Given the description of an element on the screen output the (x, y) to click on. 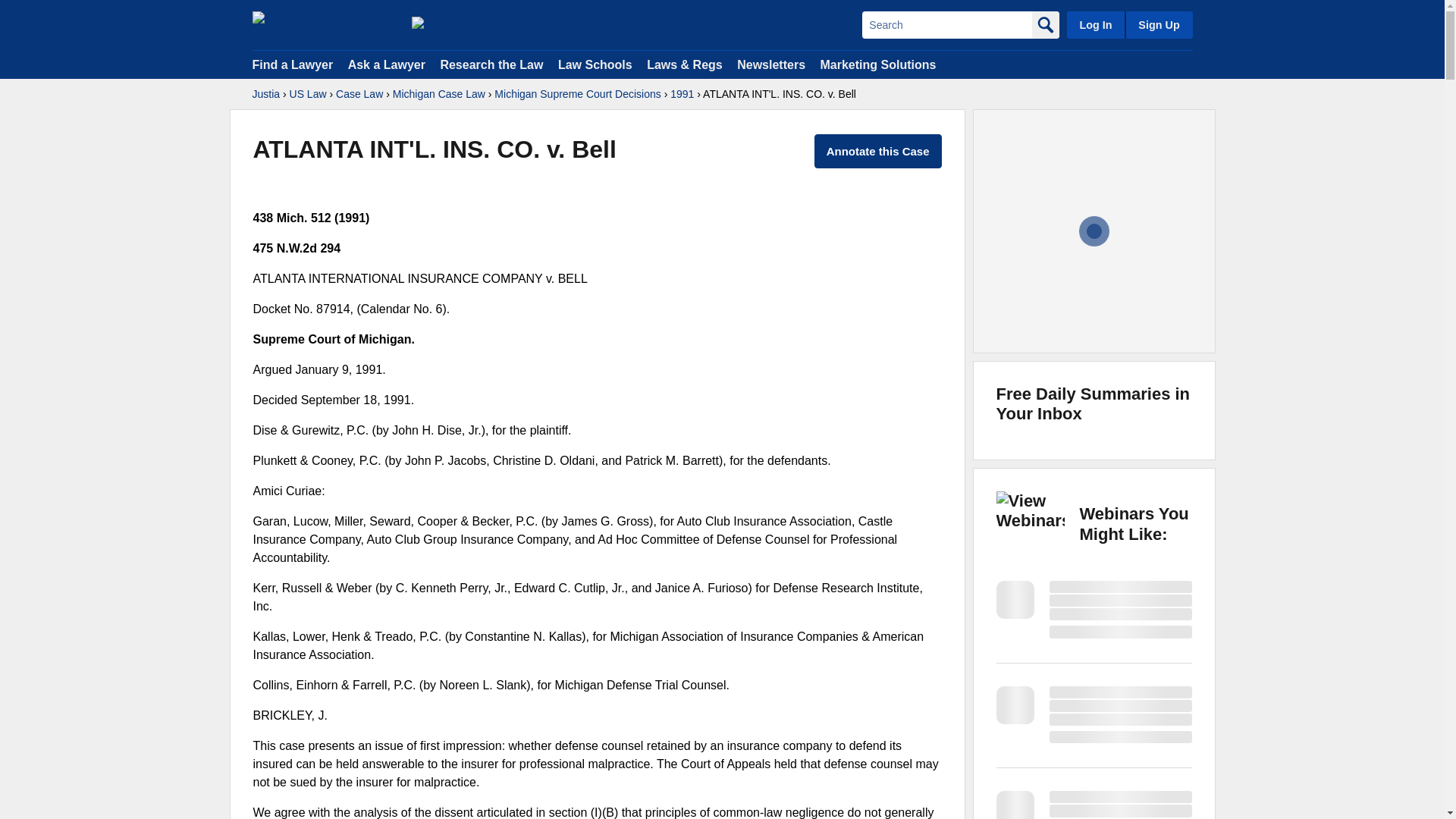
US Law (307, 93)
Michigan Supreme Court Decisions (578, 93)
Sign Up (1158, 24)
Michigan Case Law (438, 93)
Research the Law (491, 64)
Find a Lawyer (292, 64)
Marketing Solutions (877, 64)
Newsletters (770, 64)
Law Schools (594, 64)
Ask a Lawyer (388, 64)
1991 (681, 93)
Justia (323, 24)
Search (945, 24)
Annotate this Case (877, 151)
Justia (265, 93)
